Given the description of an element on the screen output the (x, y) to click on. 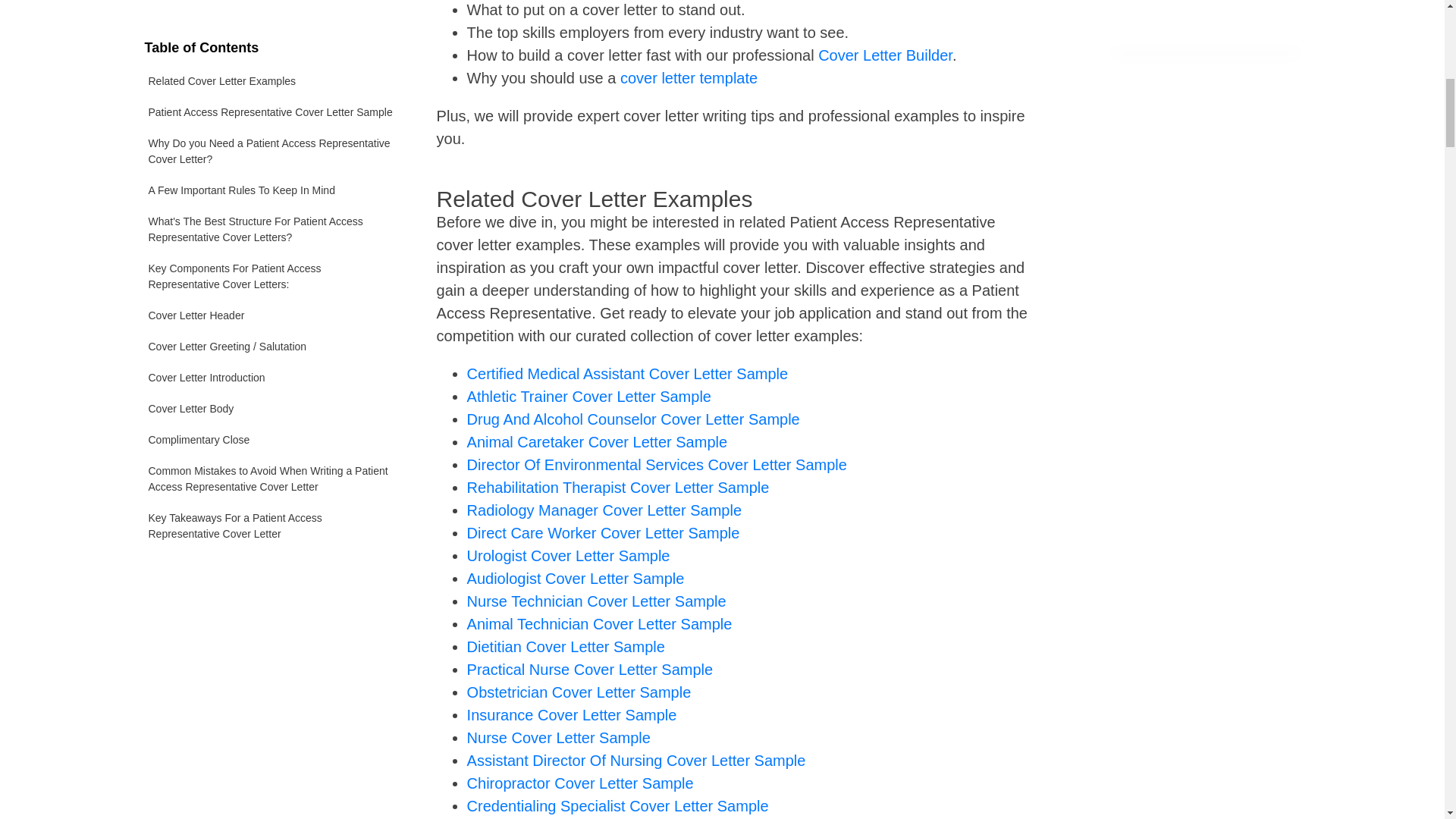
Director Of Environmental Services Cover Letter Sample (657, 464)
Certified Medical Assistant Cover Letter Sample (628, 373)
Complimentary Close (270, 210)
Rehabilitation Therapist Cover Letter Sample (618, 487)
Cover Letter Introduction (270, 148)
Cover Letter Header (270, 86)
Athletic Trainer Cover Letter Sample (589, 396)
cover letter template (688, 77)
Cover Letter Builder (885, 54)
Radiology Manager Cover Letter Sample (604, 510)
Drug And Alcohol Counselor Cover Letter Sample (633, 419)
